Given the description of an element on the screen output the (x, y) to click on. 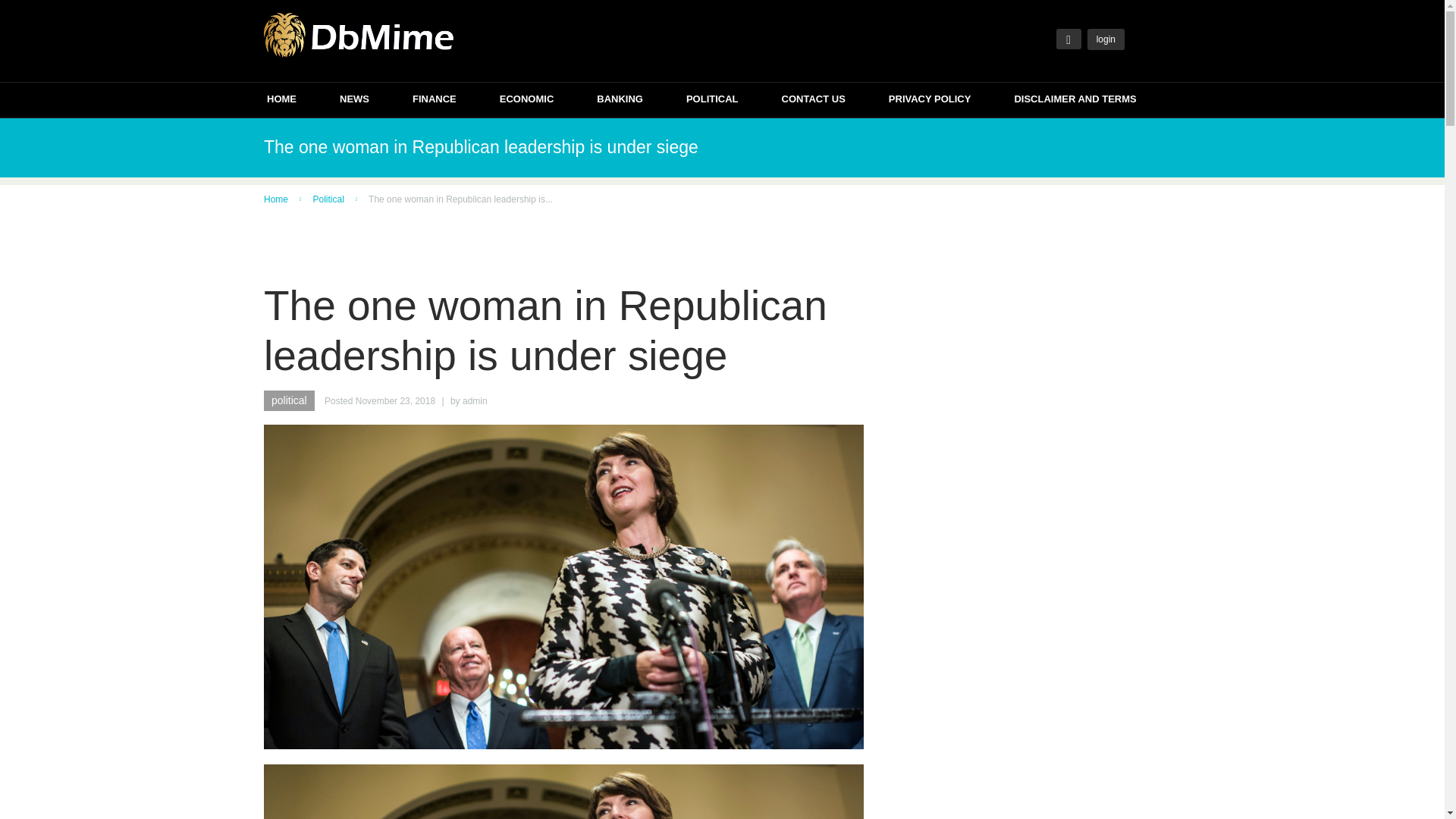
Political (328, 199)
HOME (281, 100)
DISCLAIMER AND TERMS (1074, 100)
POLITICAL (711, 100)
NEWS (354, 100)
political (288, 400)
FINANCE (434, 100)
login (1105, 38)
PRIVACY POLICY (929, 100)
November 23, 2018 (395, 400)
